Given the description of an element on the screen output the (x, y) to click on. 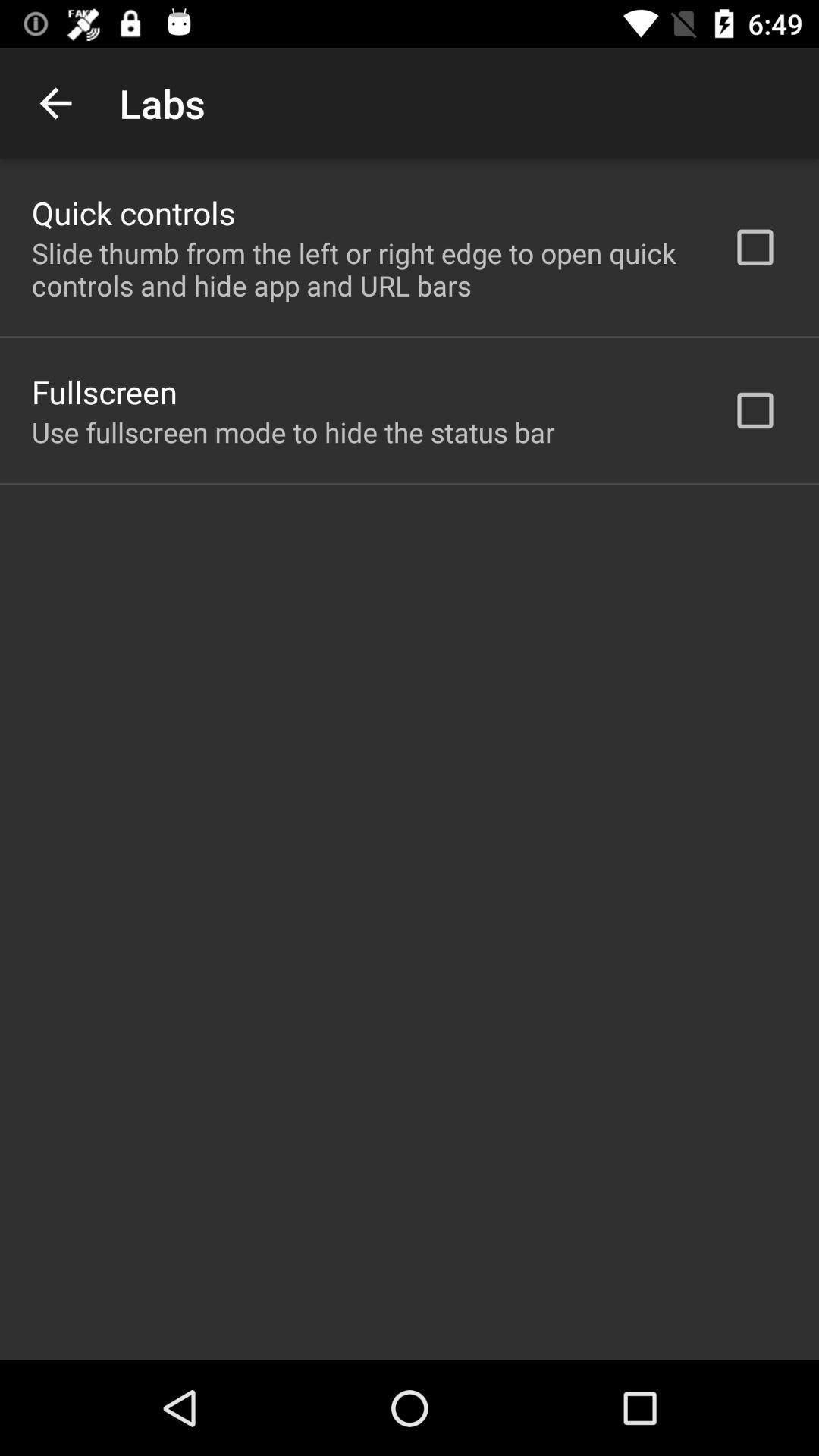
open the app below the fullscreen icon (293, 432)
